Given the description of an element on the screen output the (x, y) to click on. 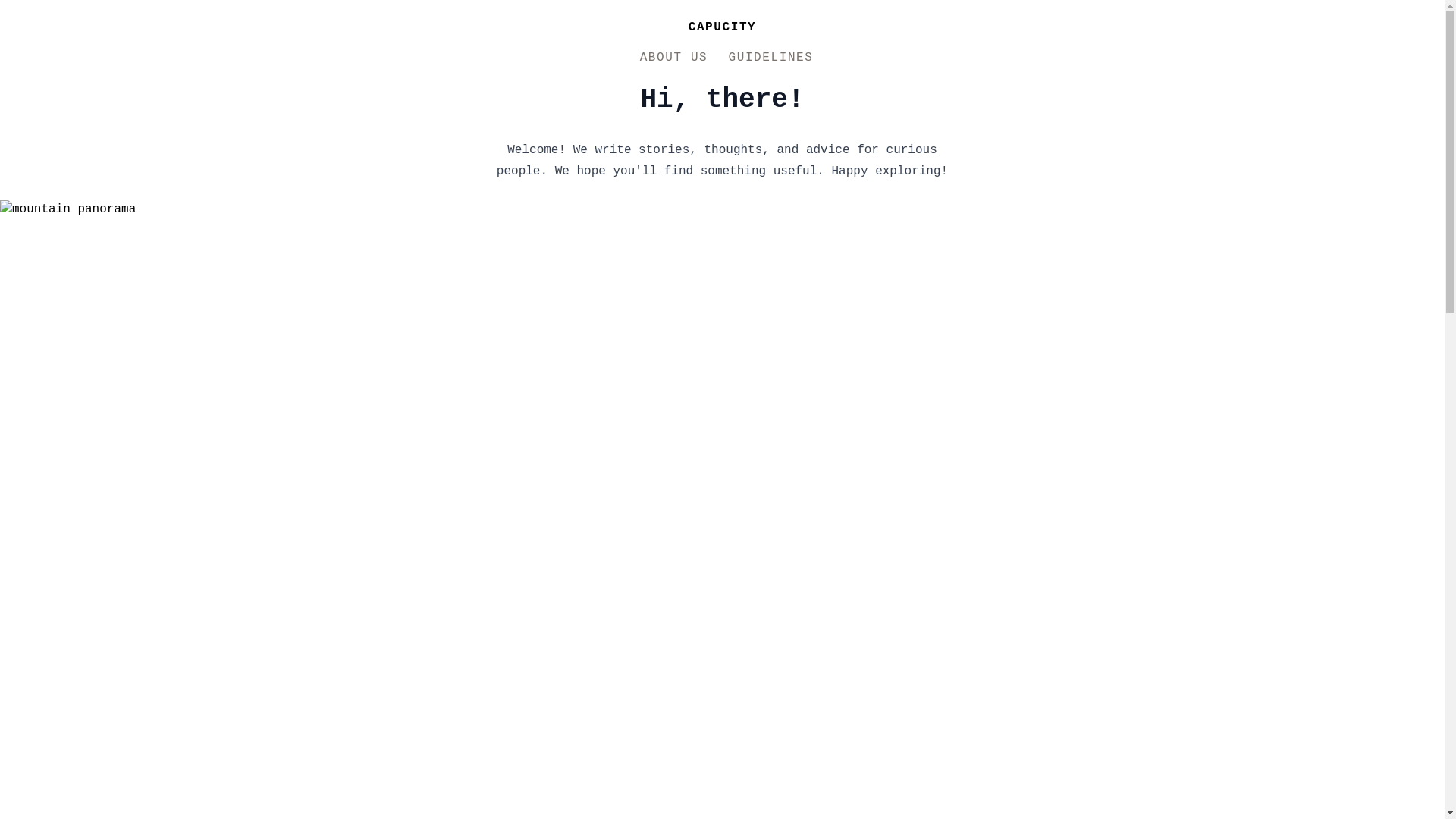
ABOUT US Element type: text (672, 57)
CAPUCITY Element type: text (721, 27)
GUIDELINES Element type: text (770, 57)
